Given the description of an element on the screen output the (x, y) to click on. 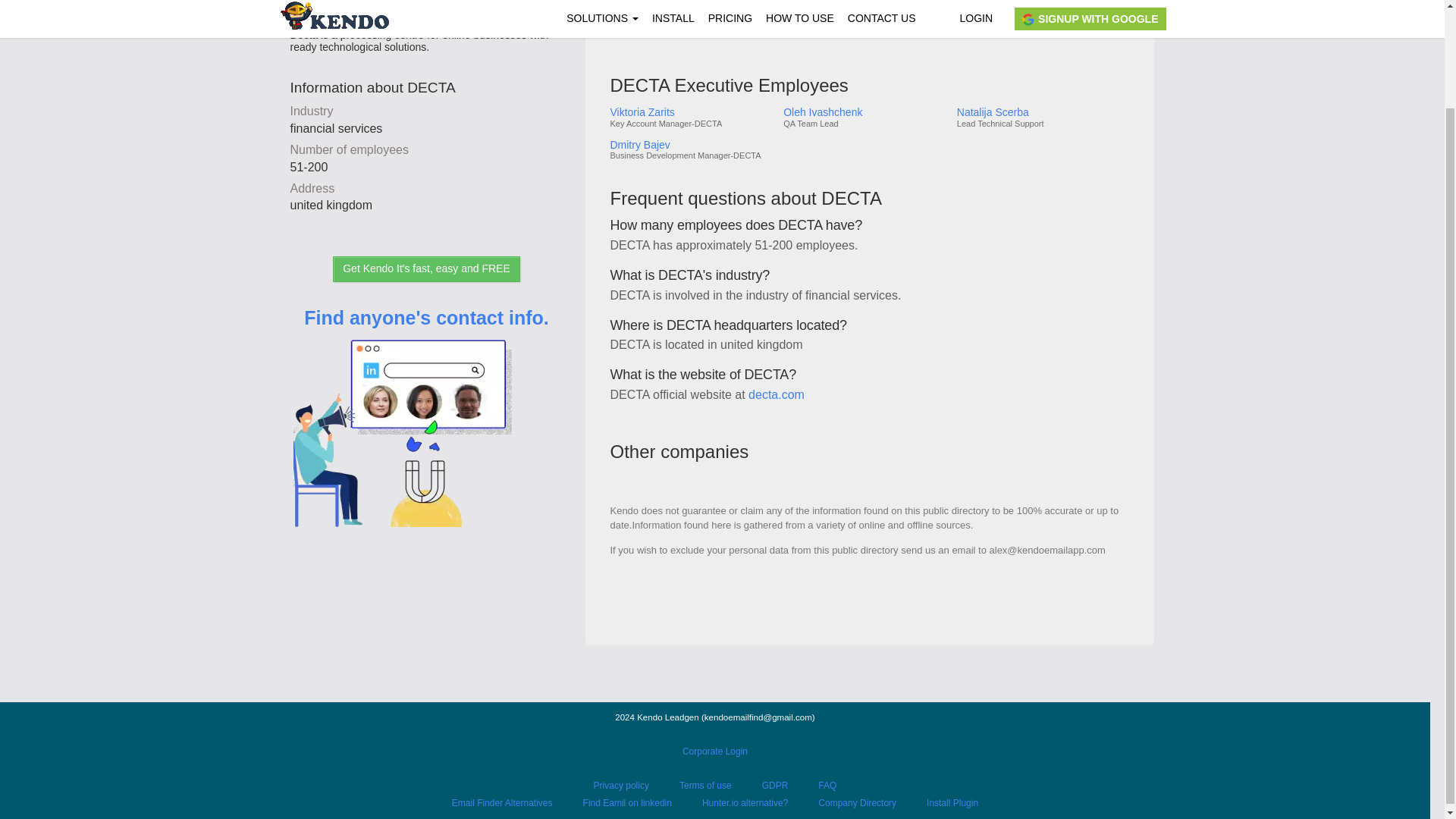
Natalija Scerba (1041, 112)
Oleh Ivashchenk (863, 112)
decta.com (776, 394)
Company Directory (857, 802)
Find Eamil on linkedin (627, 802)
Terms of use (705, 785)
Email Finder Alternatives (502, 802)
GDPR (775, 785)
Get Kendo It's fast, easy and FREE (426, 268)
FAQ (826, 785)
Install Plugin (952, 802)
Viktoria Zarits (690, 112)
Find anyone's contact info. (425, 438)
Dmitry Bajev (690, 144)
Privacy policy (621, 785)
